Given the description of an element on the screen output the (x, y) to click on. 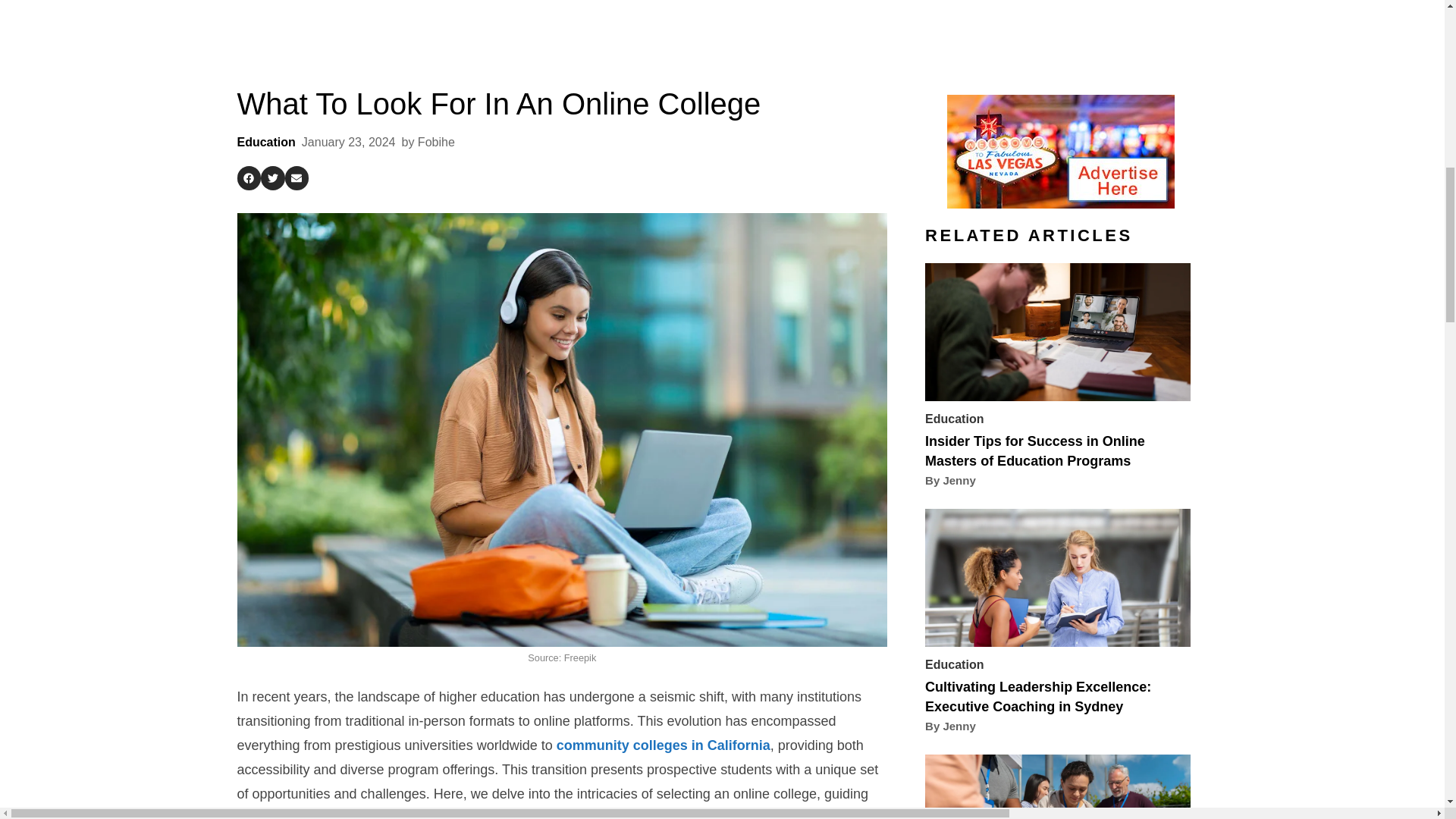
Education (265, 141)
By Jenny (949, 480)
community colleges in California (663, 744)
Education (954, 418)
